Given the description of an element on the screen output the (x, y) to click on. 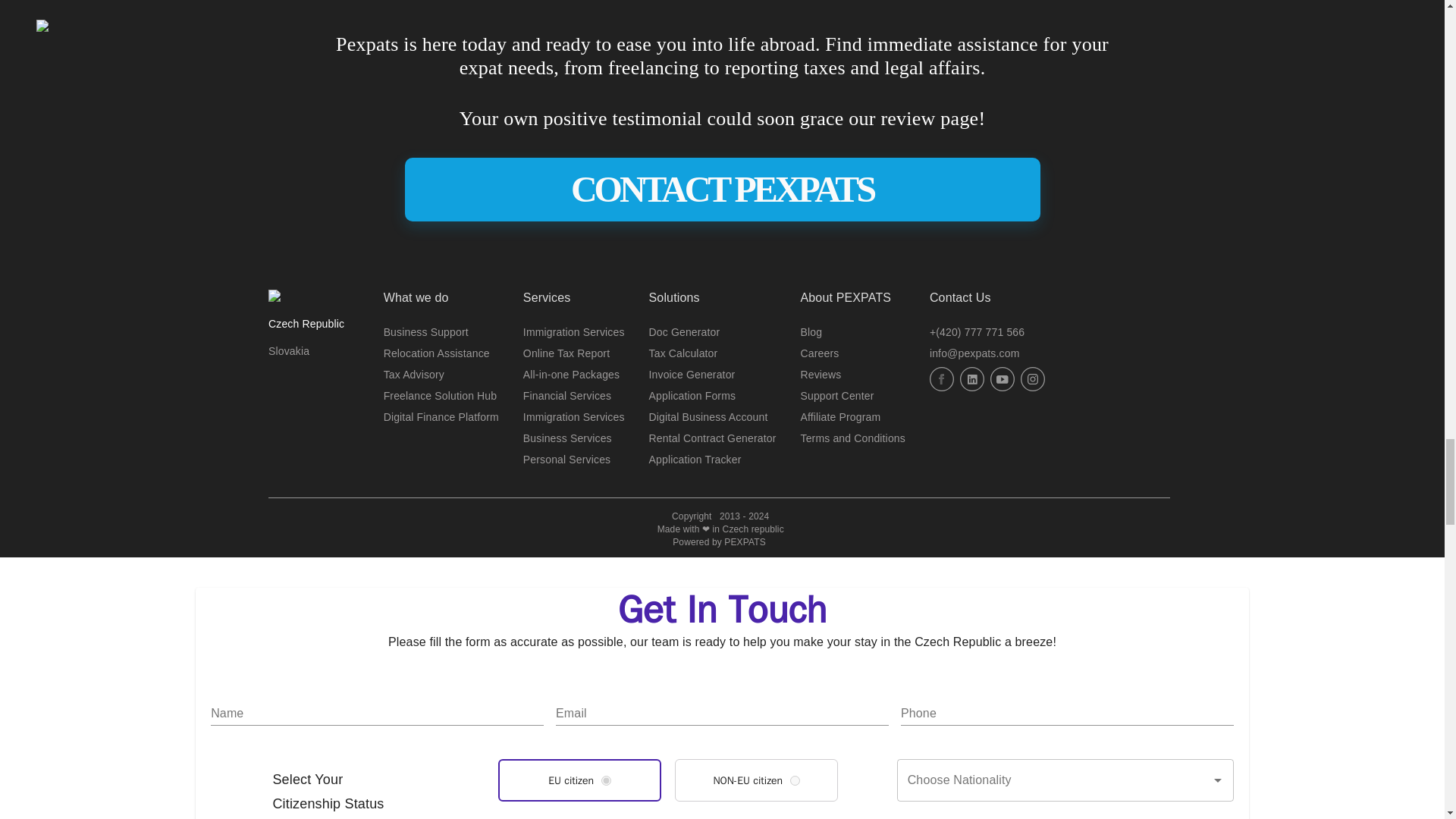
Business Support (426, 331)
Blog (811, 331)
Application Forms (692, 395)
Immigration Services (573, 417)
Czech Republic (305, 323)
Financial Services (566, 395)
Digital Business Account (708, 417)
Tax Advisory (414, 374)
Relocation Assistance (436, 353)
Terms and Conditions (852, 437)
NO (794, 780)
Careers (820, 353)
Personal Services (566, 459)
Immigration Services (573, 331)
Open (1217, 780)
